Given the description of an element on the screen output the (x, y) to click on. 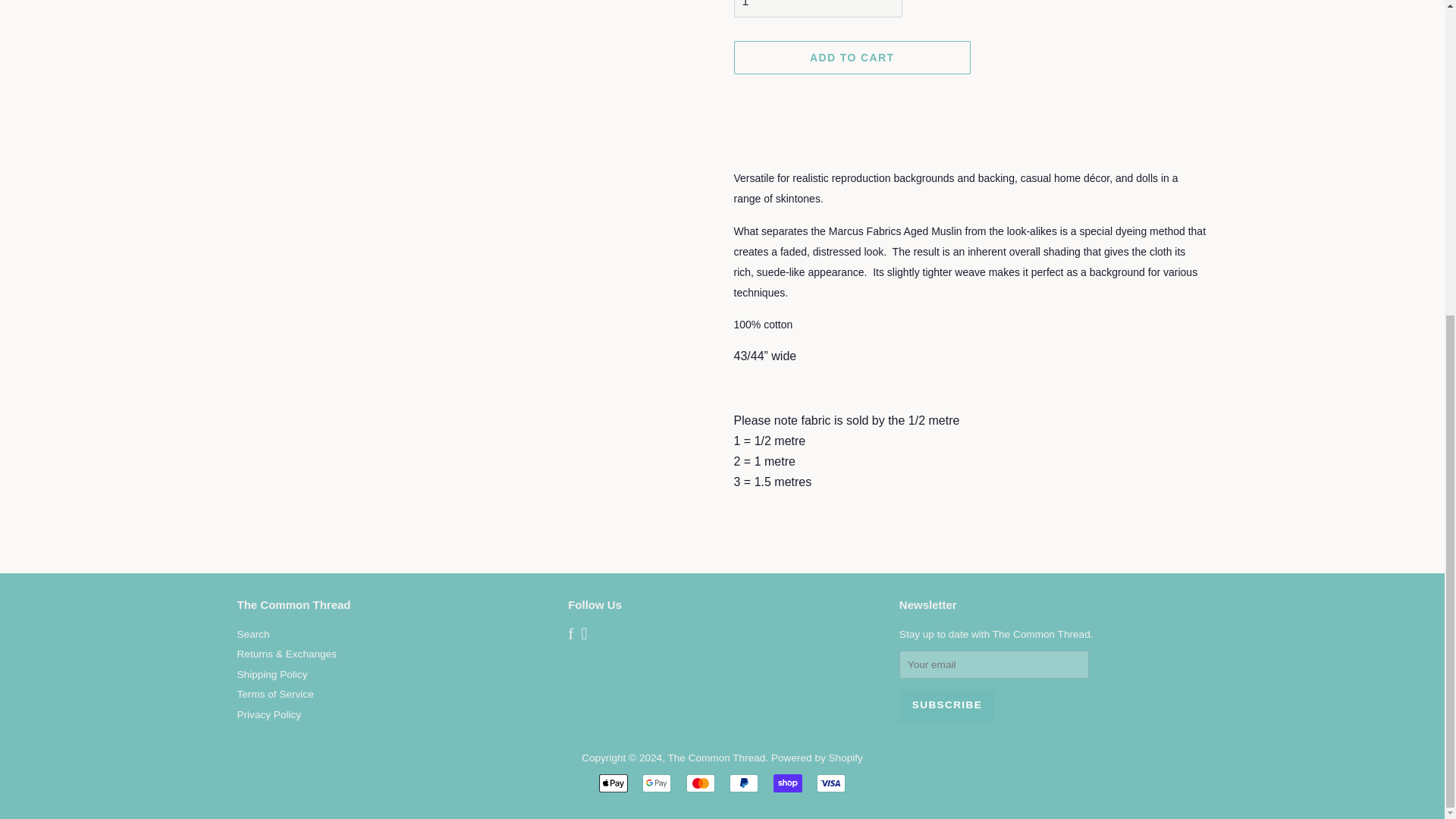
Subscribe (946, 705)
Shop Pay (787, 782)
PayPal (743, 782)
Google Pay (656, 782)
Apple Pay (612, 782)
Mastercard (699, 782)
1 (817, 8)
Visa (830, 782)
